Given the description of an element on the screen output the (x, y) to click on. 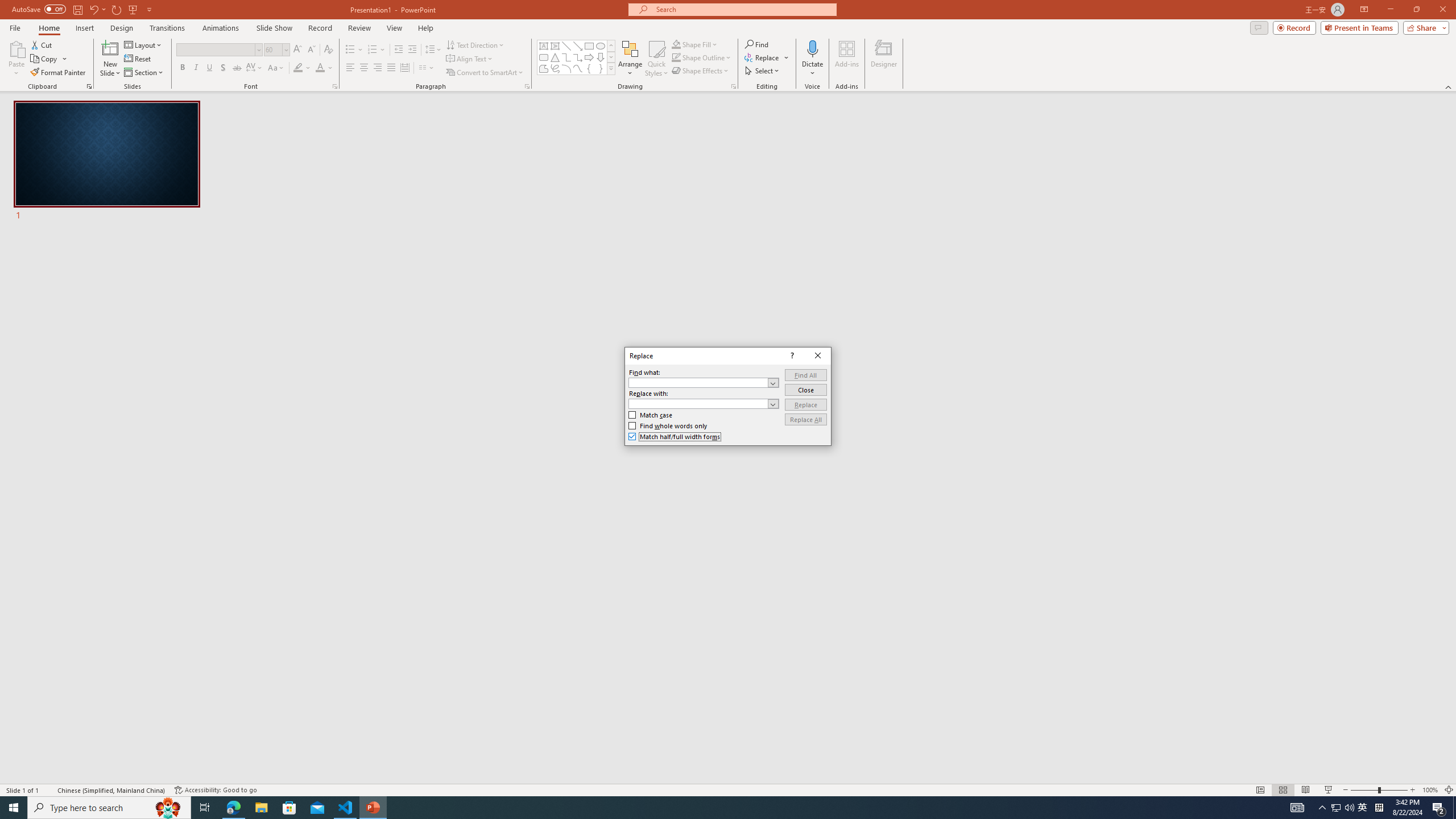
Accessibility Checker Accessibility: Good to go (216, 790)
